Given the description of an element on the screen output the (x, y) to click on. 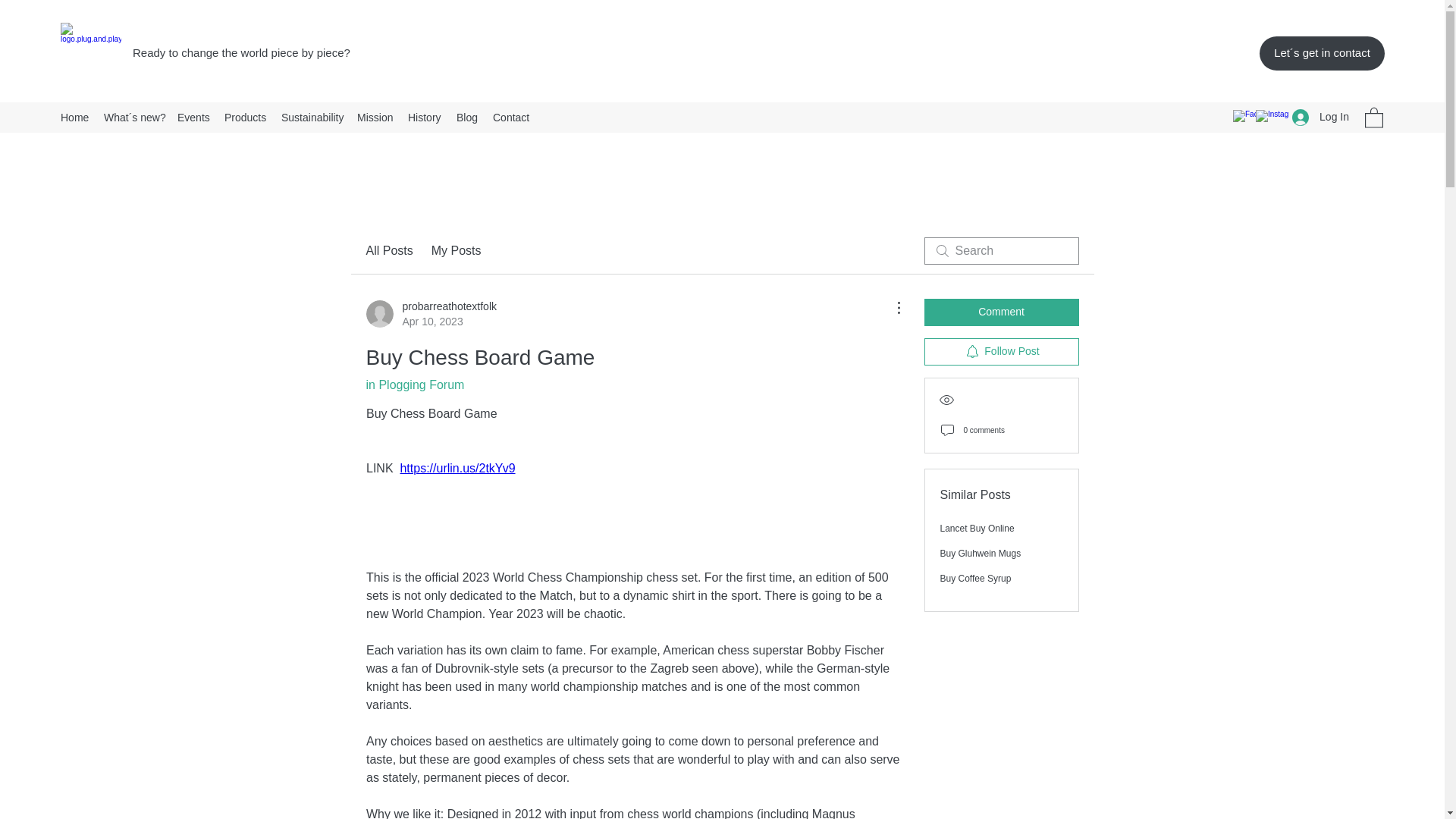
Comment (1000, 311)
in Plogging Forum (414, 384)
Log In (1320, 117)
Contact (509, 117)
Sustainability (311, 117)
History (424, 117)
Mission (374, 117)
Buy Coffee Syrup (975, 578)
Blog (466, 117)
All Posts (388, 250)
Products (244, 117)
Follow Post (1000, 351)
Buy Gluhwein Mugs (430, 313)
Lancet Buy Online (981, 552)
